Given the description of an element on the screen output the (x, y) to click on. 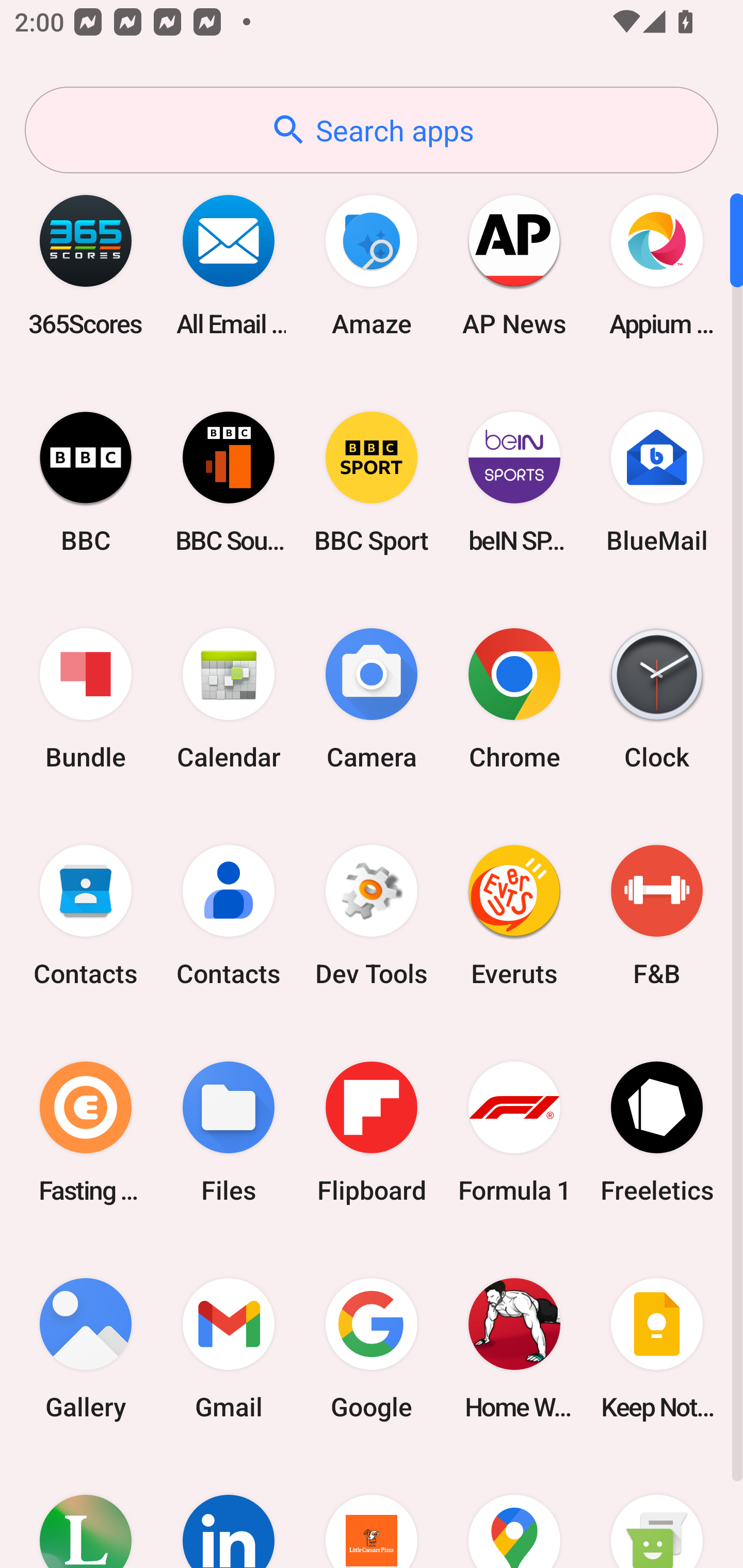
  Search apps (371, 130)
365Scores (85, 264)
All Email Connect (228, 264)
Amaze (371, 264)
AP News (514, 264)
Appium Settings (656, 264)
BBC (85, 482)
BBC Sounds (228, 482)
BBC Sport (371, 482)
beIN SPORTS (514, 482)
BlueMail (656, 482)
Bundle (85, 699)
Calendar (228, 699)
Camera (371, 699)
Chrome (514, 699)
Clock (656, 699)
Contacts (85, 915)
Contacts (228, 915)
Dev Tools (371, 915)
Everuts (514, 915)
F&B (656, 915)
Fasting Coach (85, 1131)
Files (228, 1131)
Flipboard (371, 1131)
Formula 1 (514, 1131)
Freeletics (656, 1131)
Gallery (85, 1348)
Gmail (228, 1348)
Google (371, 1348)
Home Workout (514, 1348)
Keep Notes (656, 1348)
Lifesum (85, 1512)
LinkedIn (228, 1512)
Little Caesars Pizza (371, 1512)
Maps (514, 1512)
Messaging (656, 1512)
